Given the description of an element on the screen output the (x, y) to click on. 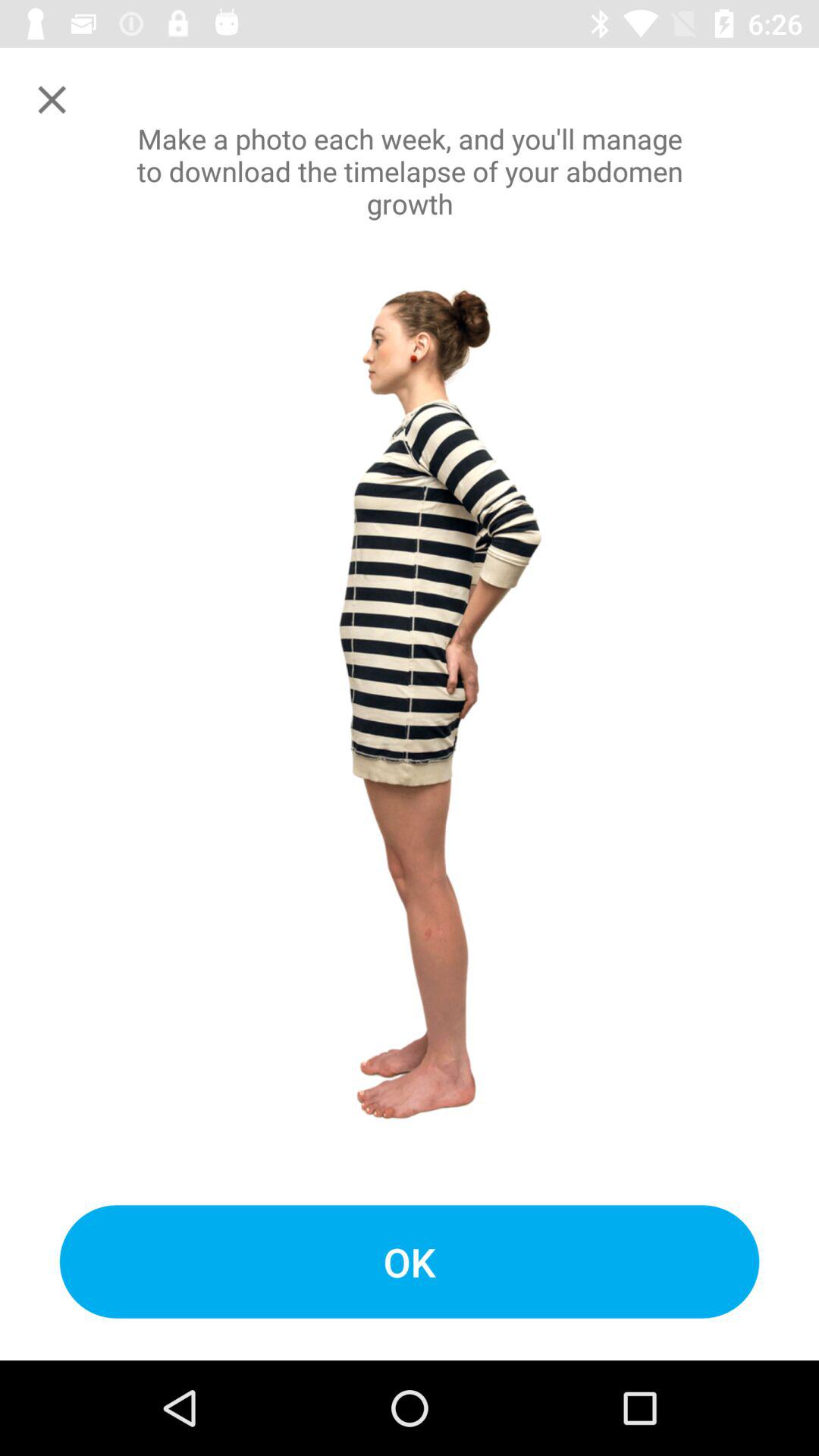
click the ok icon (409, 1261)
